Given the description of an element on the screen output the (x, y) to click on. 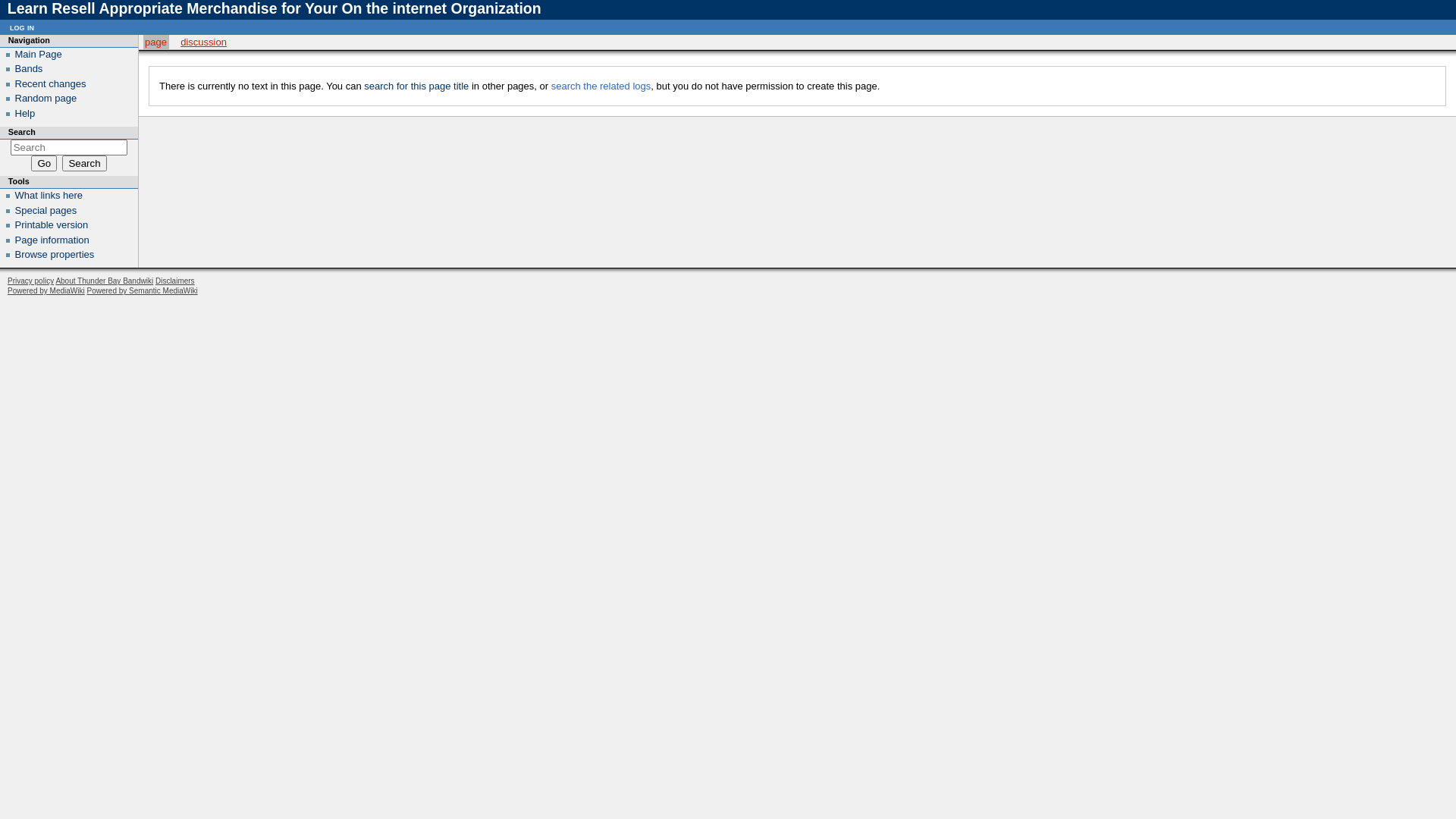
search the related logs Element type: text (601, 85)
About Thunder Bay Bandwiki Element type: text (104, 280)
Go Element type: text (43, 163)
log in Element type: text (21, 26)
Browse properties Element type: text (54, 254)
Powered by Semantic MediaWiki Element type: text (141, 290)
Search the pages for this text Element type: hover (84, 163)
discussion Element type: text (203, 41)
Main Page Element type: text (38, 53)
Bands Element type: text (29, 68)
Random page Element type: text (46, 97)
Help Element type: text (25, 113)
Powered by MediaWiki Element type: text (45, 290)
page Element type: text (155, 41)
Search Element type: text (84, 163)
search for this page title Element type: text (416, 85)
Disclaimers Element type: text (174, 280)
Go to a page with this exact name if exists Element type: hover (43, 163)
What links here Element type: text (49, 194)
Special pages Element type: text (46, 210)
Search Thunder Bay Bandwiki [f] Element type: hover (69, 147)
Recent changes Element type: text (50, 83)
Page information Element type: text (52, 239)
Printable version Element type: text (51, 224)
Privacy policy Element type: text (30, 280)
